Given the description of an element on the screen output the (x, y) to click on. 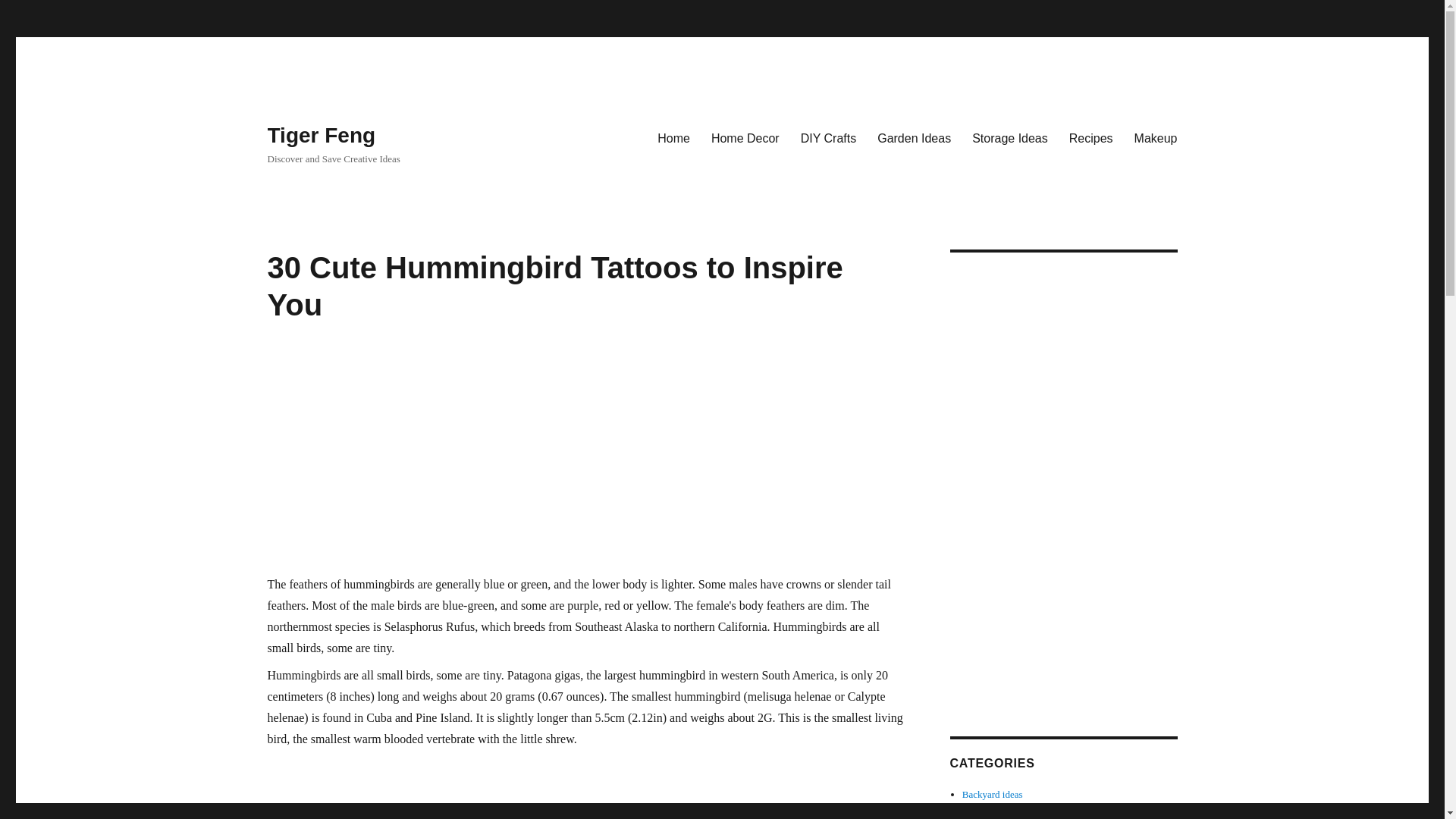
DIY Crafts (828, 137)
Makeup (1156, 137)
Home Decor (745, 137)
Tiger Feng (320, 135)
Recipes (1091, 137)
Storage Ideas (1009, 137)
Advertisement (585, 787)
Home (673, 137)
Garden Ideas (913, 137)
